Given the description of an element on the screen output the (x, y) to click on. 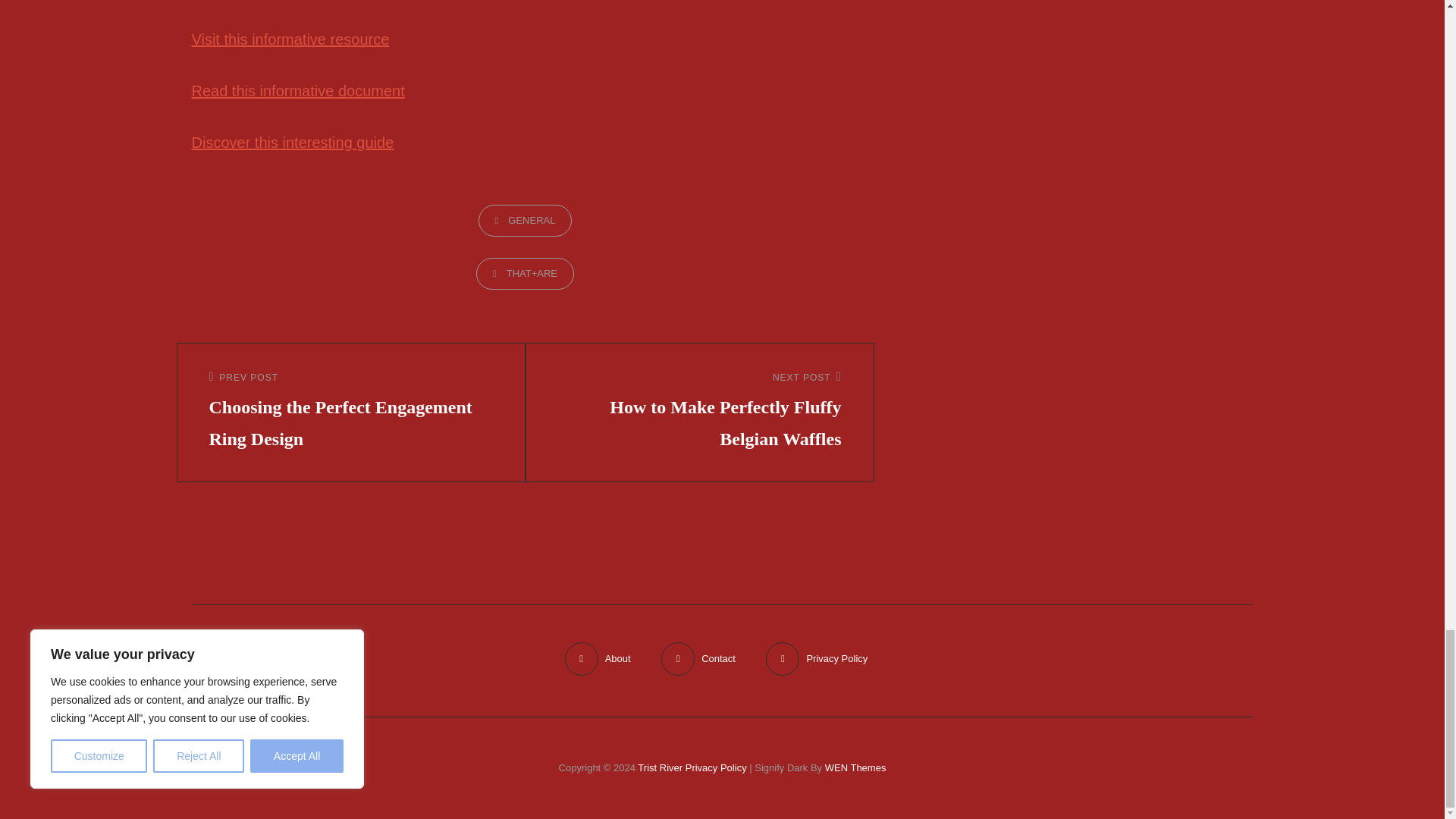
Discover this interesting guide (291, 142)
Read this informative document (297, 90)
GENERAL (525, 220)
Visit this informative resource (289, 39)
